Given the description of an element on the screen output the (x, y) to click on. 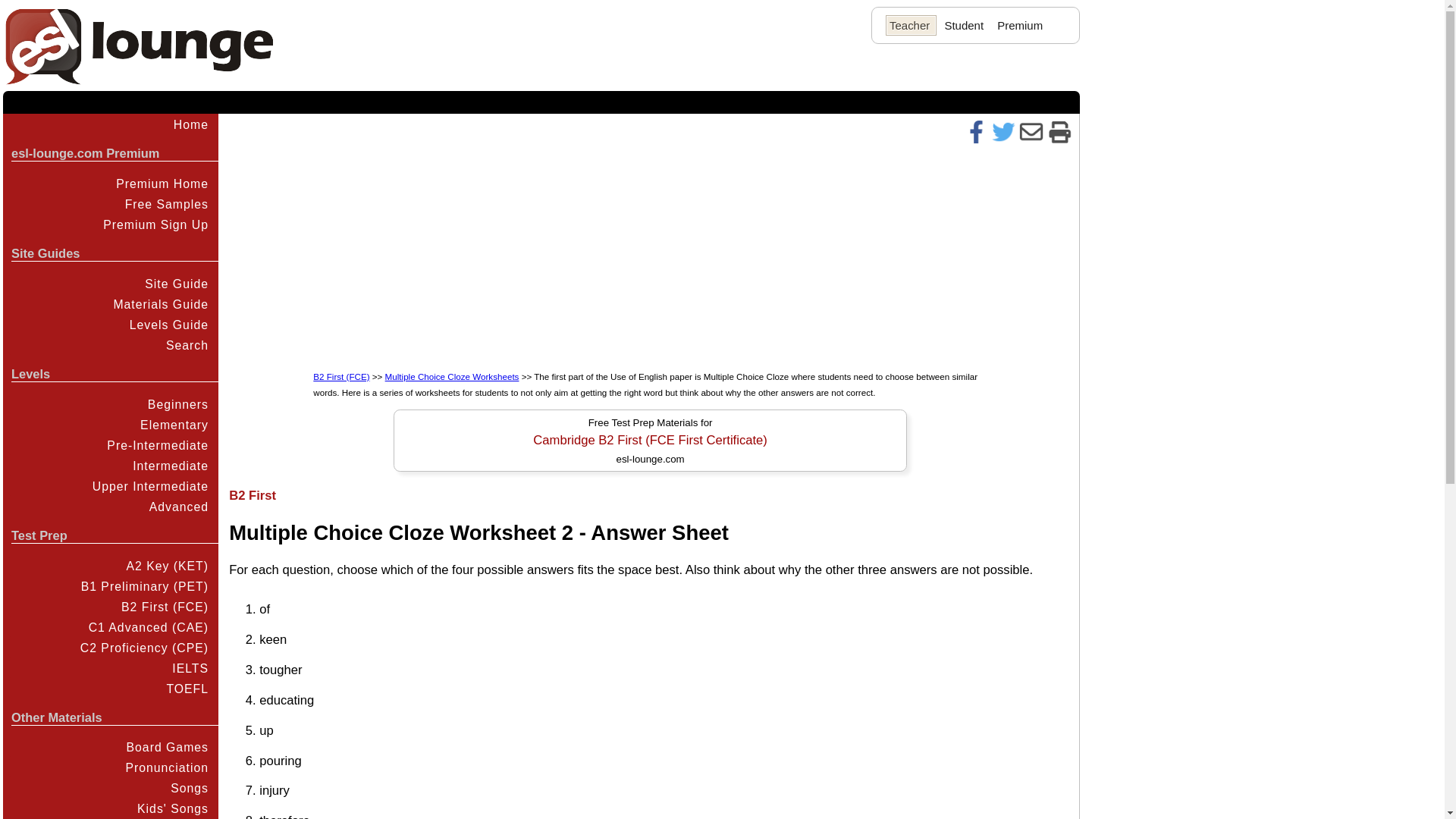
Upper Intermediate (109, 486)
IELTS (109, 667)
Advanced (109, 506)
Premium Sign Up (109, 224)
Songs (109, 787)
Advertisement (357, 254)
Materials Guide (109, 303)
Levels Guide (109, 324)
Beginners (109, 404)
Elementary (109, 424)
Teacher (909, 24)
Kids' Songs (109, 808)
TOEFL (109, 688)
Pronunciation (109, 767)
Board Games (109, 746)
